Given the description of an element on the screen output the (x, y) to click on. 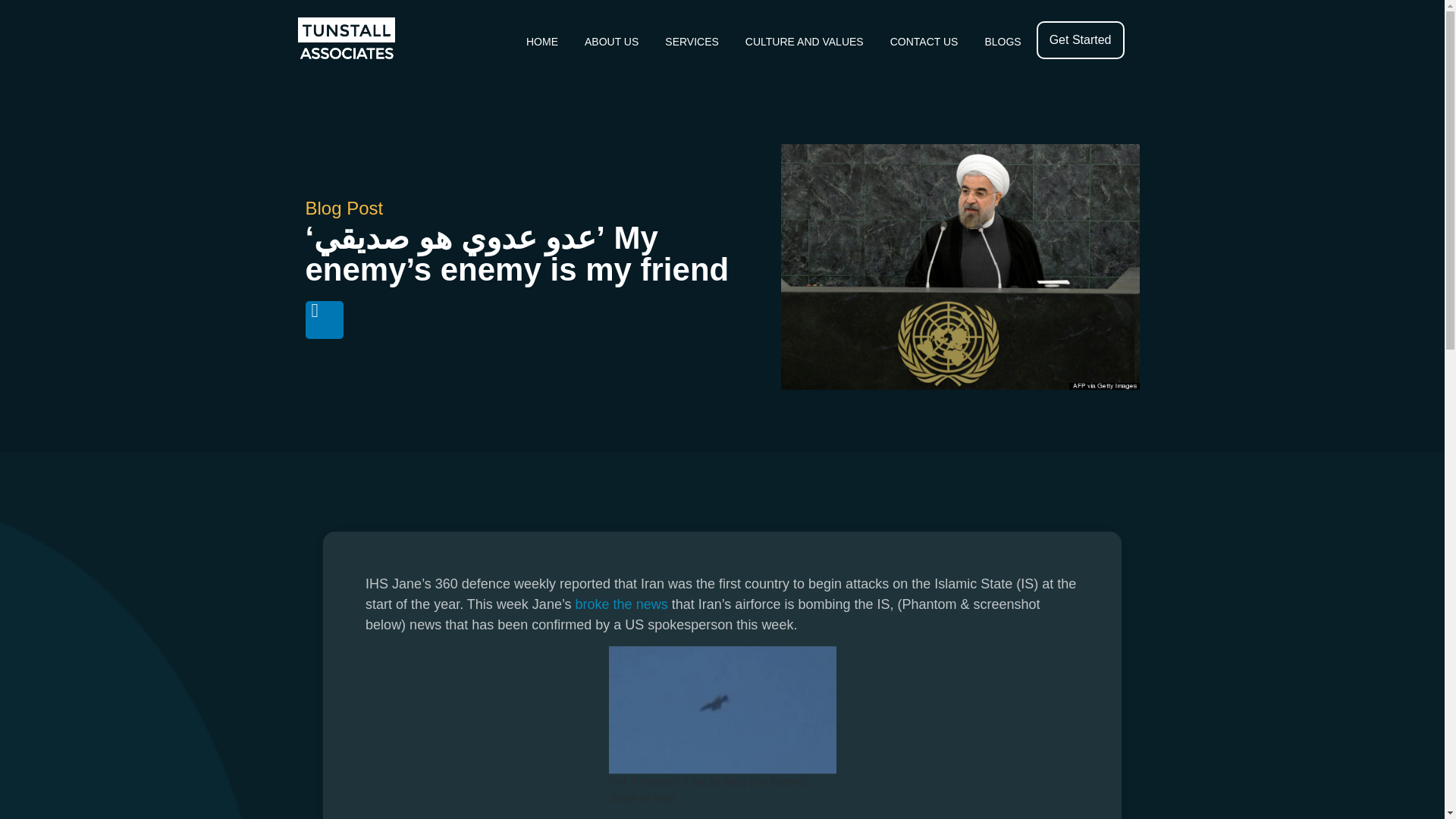
HOME (541, 41)
ABOUT US (612, 41)
SERVICES (692, 41)
